Given the description of an element on the screen output the (x, y) to click on. 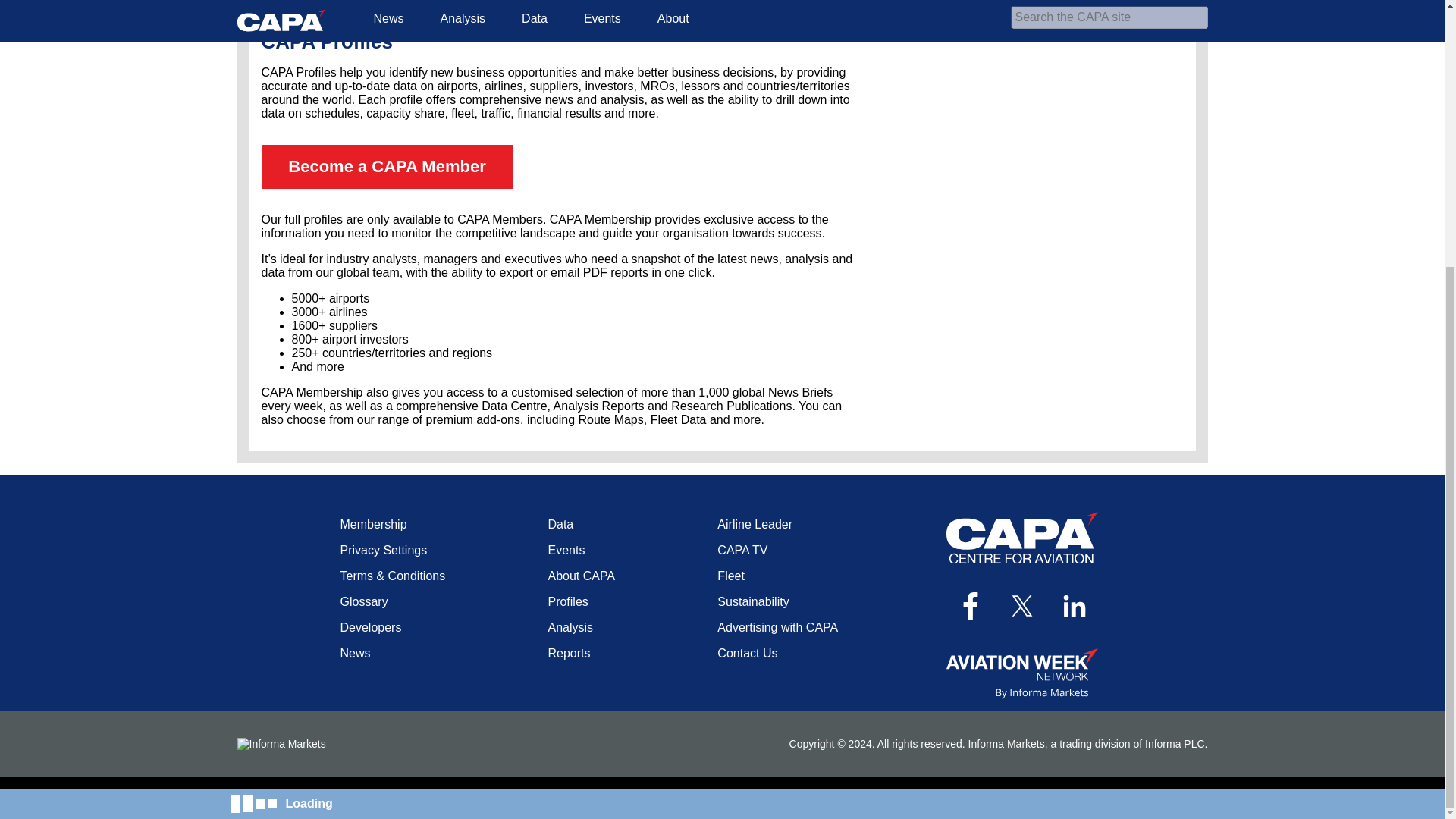
Data (560, 523)
CAPA is part of the Aviation Week Network (1021, 673)
CAPA - Centre for Aviation (1021, 537)
Events (566, 549)
About CAPA (580, 575)
News (354, 653)
CAPA is part of the Aviation Week Network (1021, 673)
CAPA on LinkedIn (1075, 606)
Membership (372, 523)
Privacy Settings (382, 549)
CAPA on Twitter (1022, 606)
Developers (370, 626)
Glossary (363, 601)
Become a CAPA Member (386, 166)
CAPA on Facebook (970, 606)
